Given the description of an element on the screen output the (x, y) to click on. 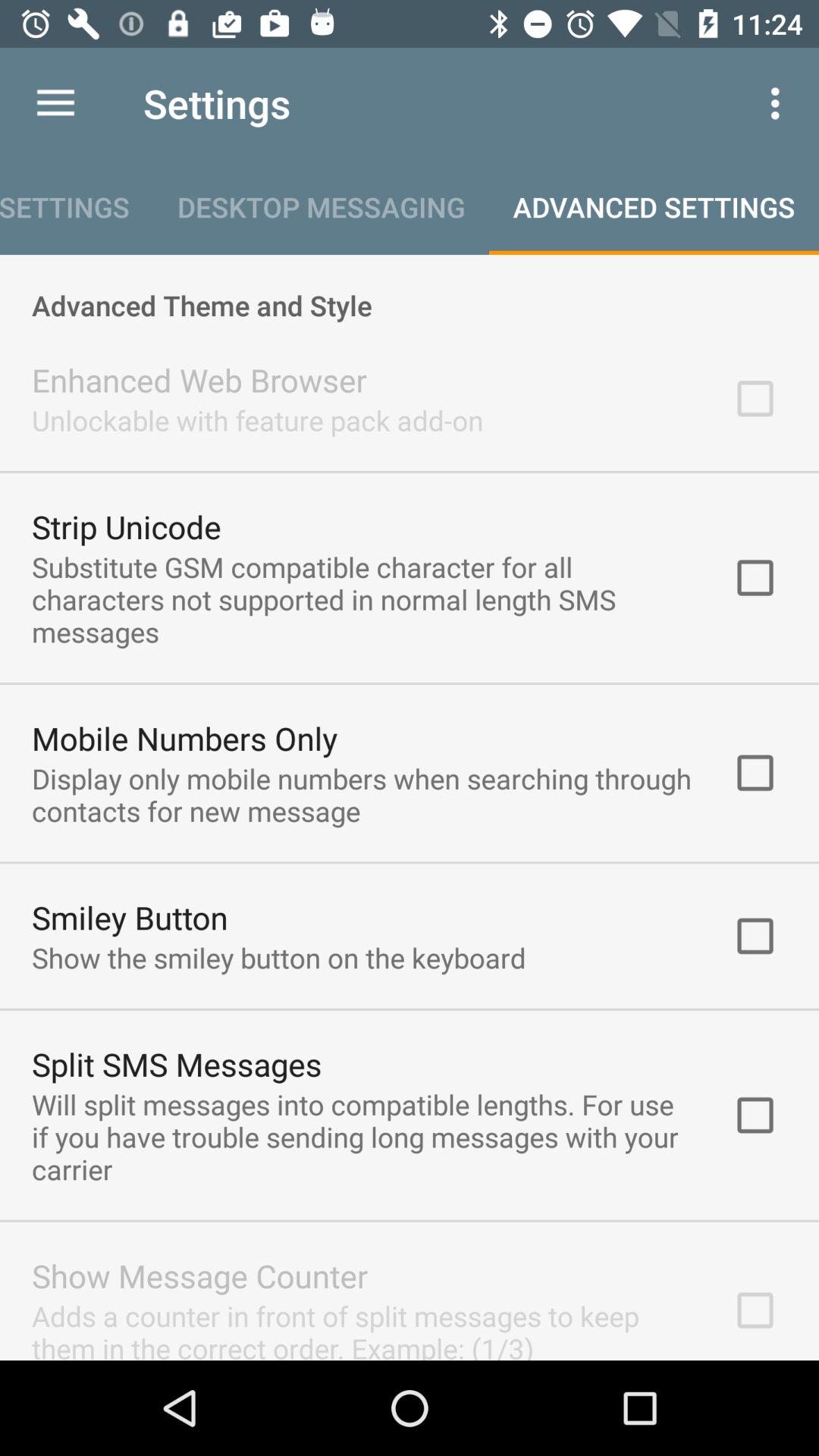
turn off strip unicode (126, 526)
